Given the description of an element on the screen output the (x, y) to click on. 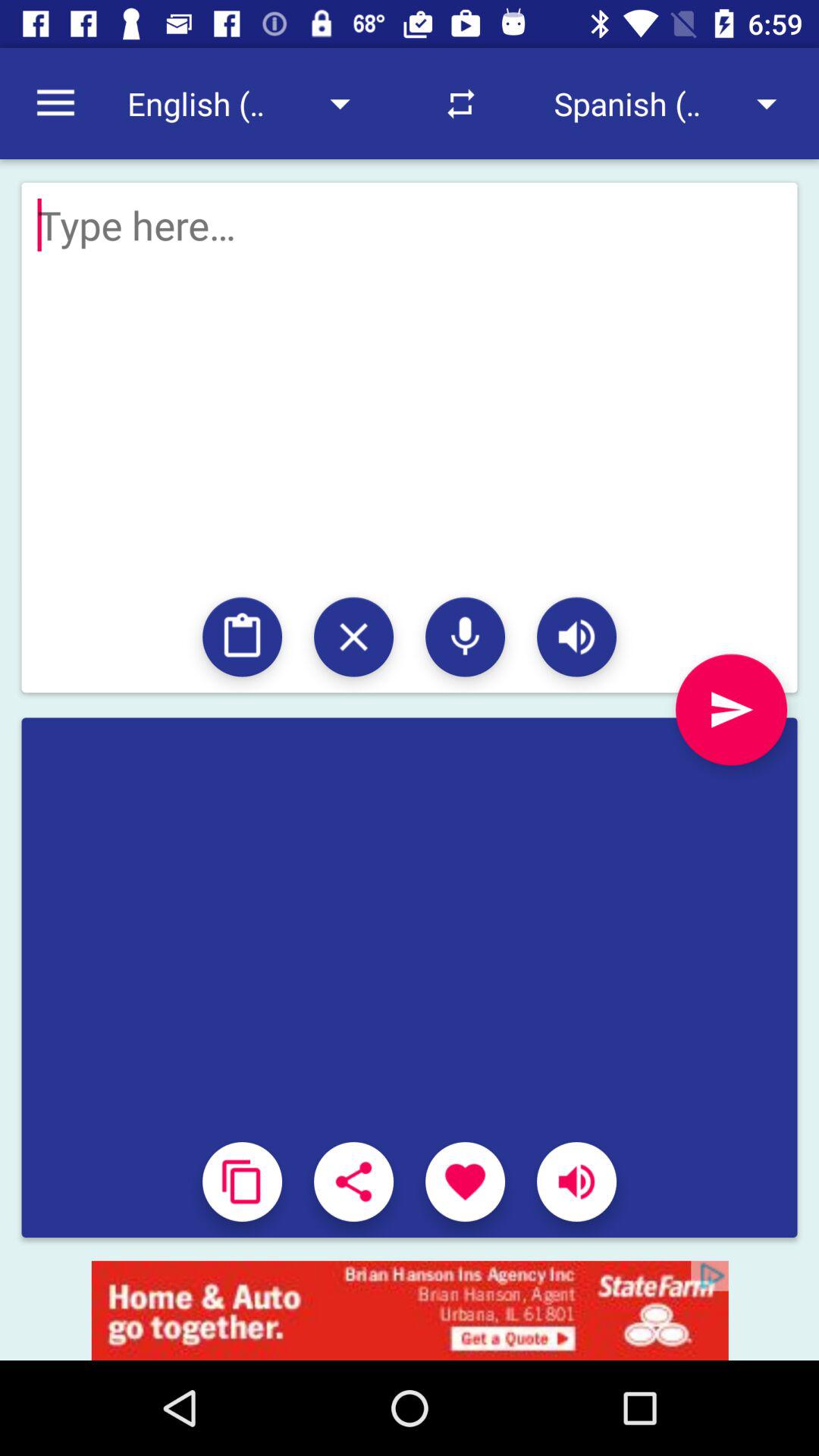
sound (576, 636)
